Given the description of an element on the screen output the (x, y) to click on. 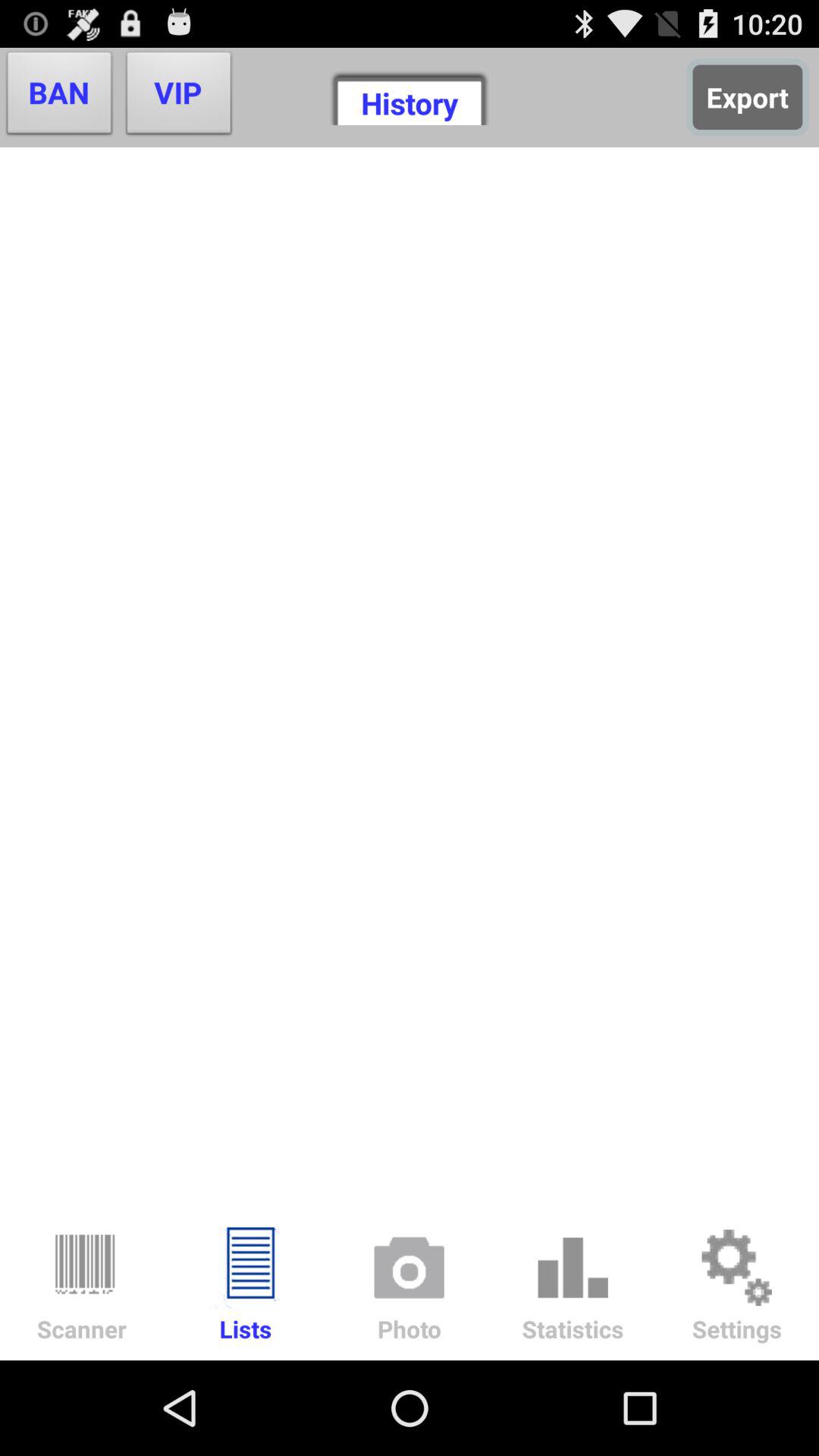
flip to the vip button (178, 97)
